Given the description of an element on the screen output the (x, y) to click on. 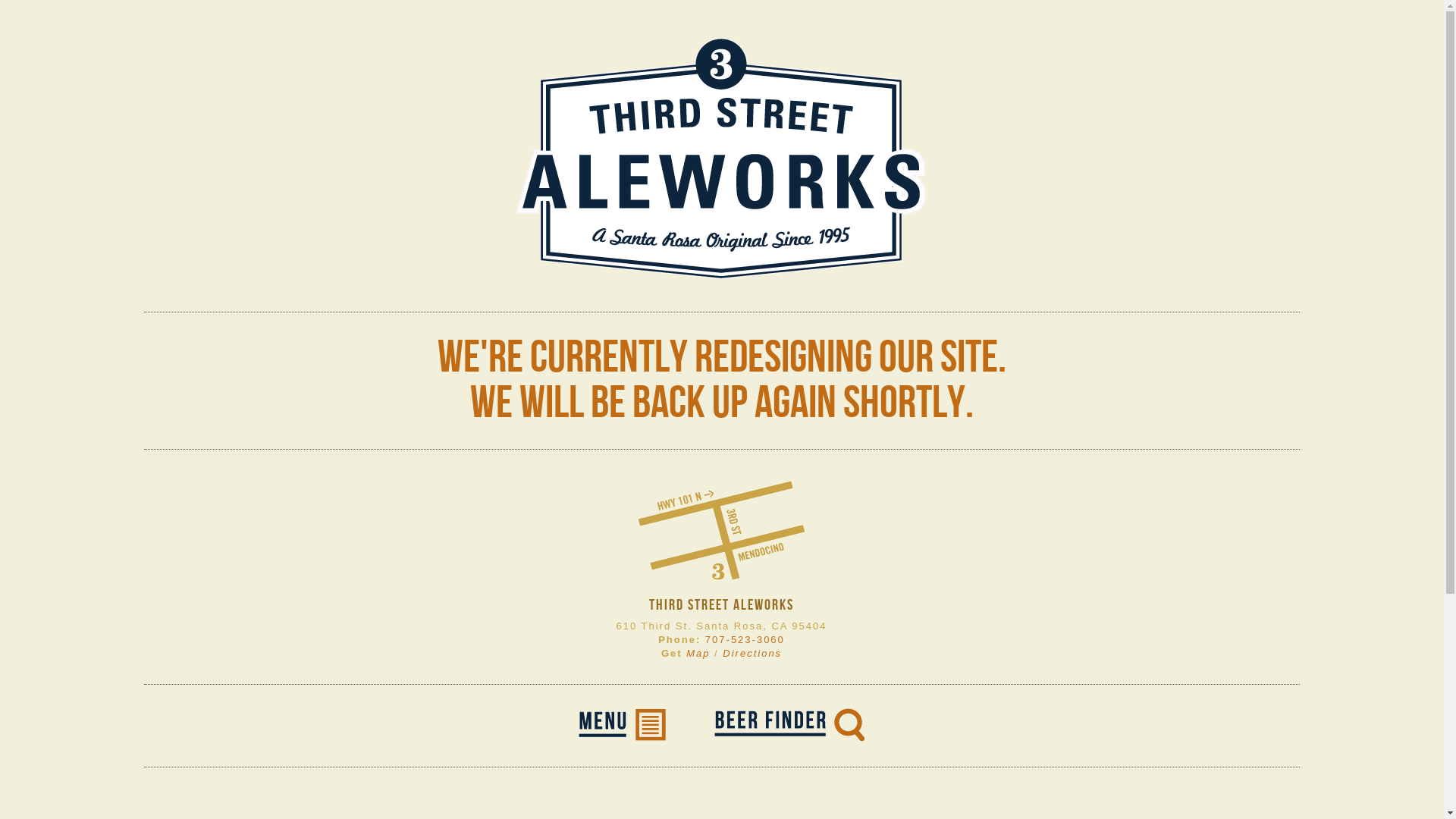
Map Element type: text (697, 652)
707-523-3060 Element type: text (744, 639)
Directions Element type: text (751, 652)
